Given the description of an element on the screen output the (x, y) to click on. 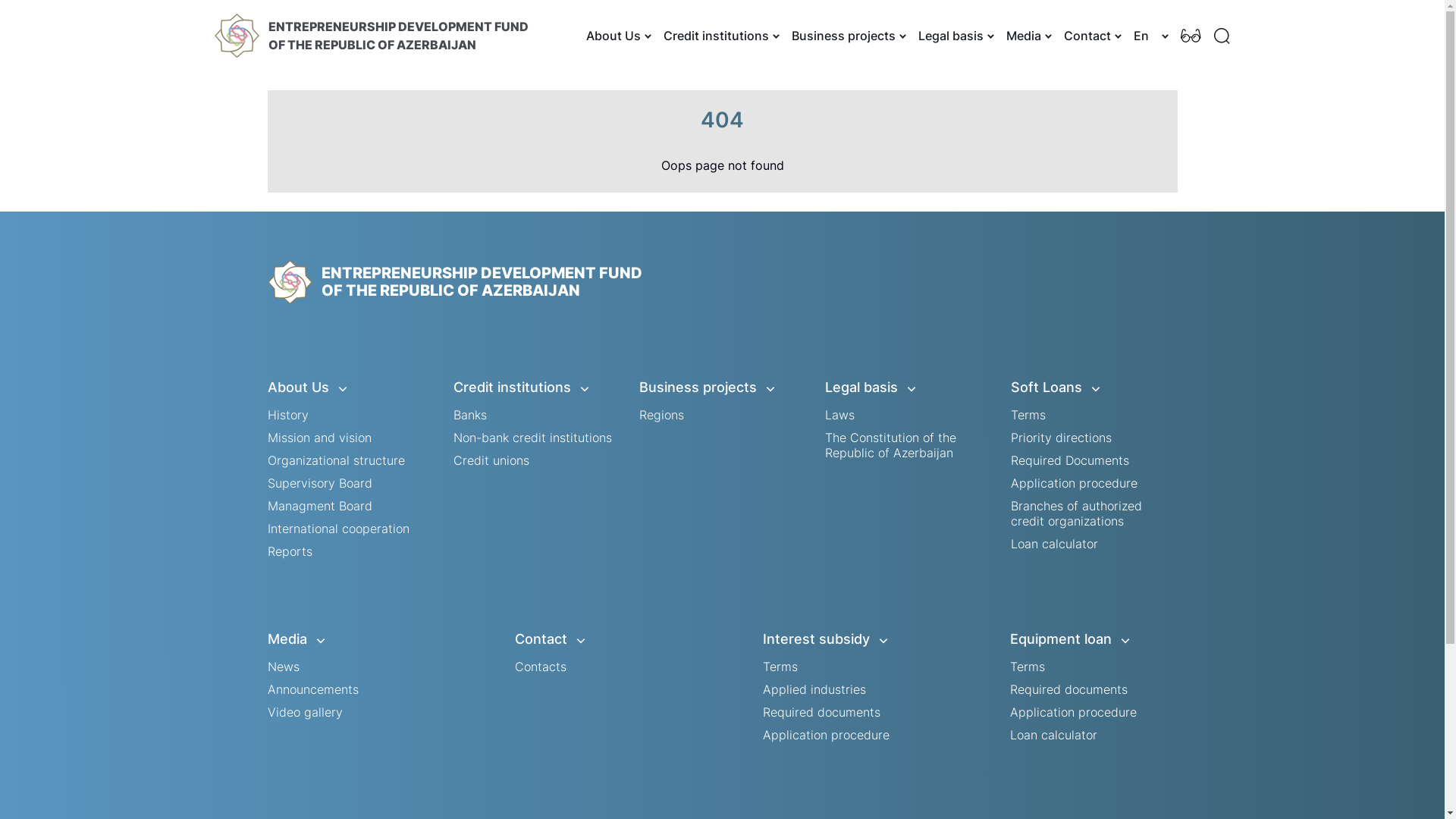
Credit institutions Element type: text (536, 387)
Soft Loans Element type: text (1093, 387)
Non-bank credit institutions Element type: text (532, 437)
Managment Board Element type: text (318, 505)
The Constitution of the Republic of Azerbaijan Element type: text (890, 444)
Legal basis Element type: text (908, 387)
Application procedure Element type: text (1073, 482)
Banks Element type: text (469, 414)
Regions Element type: text (660, 414)
Mission and vision Element type: text (318, 437)
Credit unions Element type: text (491, 459)
Laws Element type: text (839, 414)
Organizational structure Element type: text (335, 459)
About Us Element type: text (349, 387)
Terms Element type: text (1027, 414)
Required documents Element type: text (821, 711)
Loan calculator Element type: text (1053, 734)
Terms Element type: text (779, 666)
Required documents Element type: text (1068, 688)
Application procedure Element type: text (1073, 711)
Supervisory Board Element type: text (318, 482)
Priority directions Element type: text (1060, 437)
History Element type: text (286, 414)
Contact Element type: text (597, 638)
Media Element type: text (349, 638)
Media Element type: text (1026, 35)
Announcements Element type: text (311, 688)
Interest subsidy Element type: text (845, 638)
Equipment loan Element type: text (1093, 638)
About Us Element type: text (616, 35)
Legal basis Element type: text (953, 35)
Loan calculator Element type: text (1053, 543)
Contact Element type: text (1090, 35)
Application procedure Element type: text (825, 734)
Required Documents Element type: text (1069, 459)
Reports Element type: text (288, 550)
Applied industries Element type: text (814, 688)
Business projects Element type: text (721, 387)
Contacts Element type: text (540, 666)
Business projects Element type: text (847, 35)
Credit institutions Element type: text (719, 35)
Video gallery Element type: text (304, 711)
Terms Element type: text (1027, 666)
News Element type: text (282, 666)
International cooperation Element type: text (337, 528)
Branches of authorized credit organizations Element type: text (1075, 513)
